Given the description of an element on the screen output the (x, y) to click on. 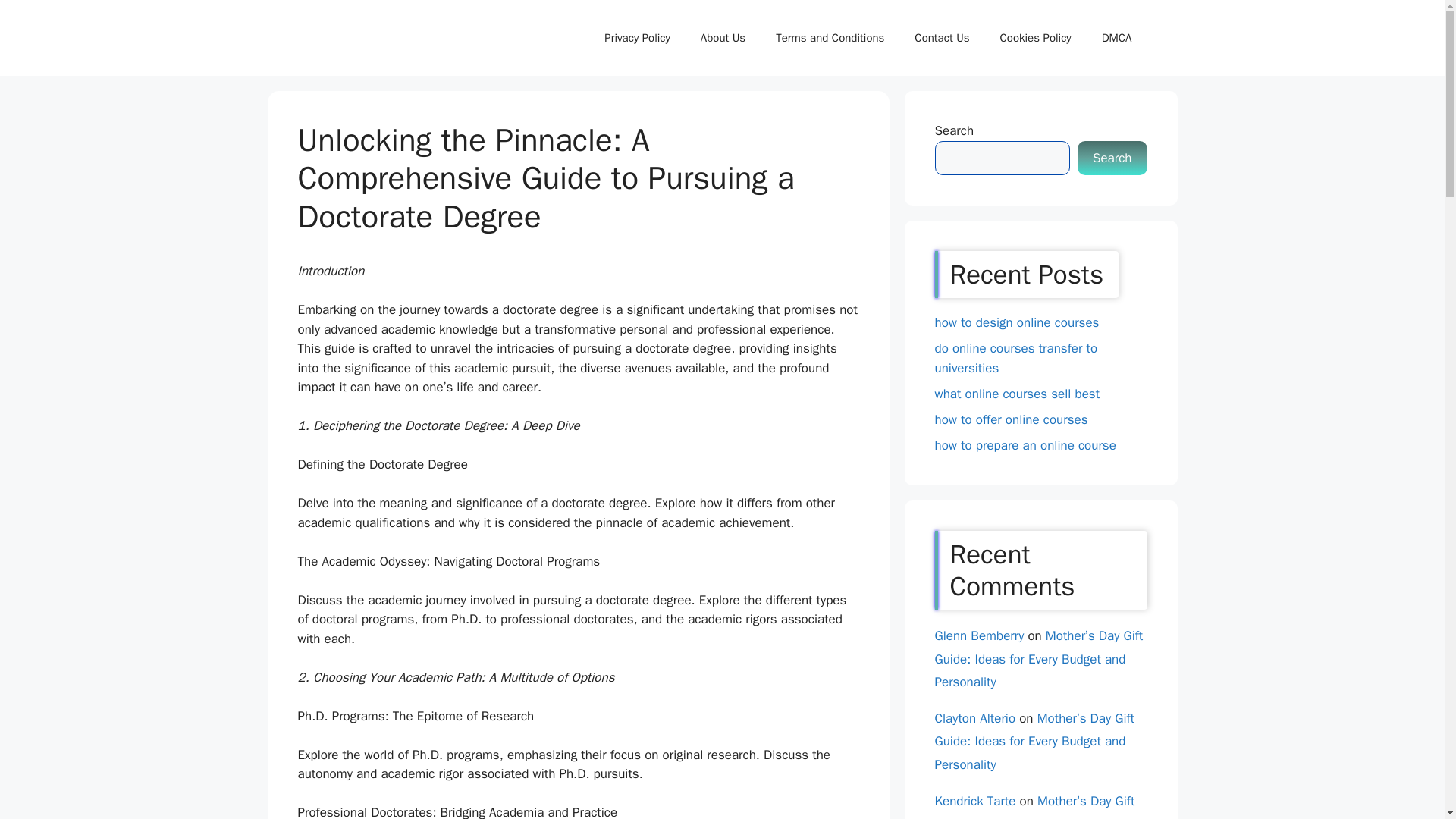
DMCA (1116, 37)
Glenn Bemberry (978, 635)
Kendrick Tarte (974, 801)
how to offer online courses (1010, 418)
Clayton Alterio (974, 718)
Search (1112, 158)
do online courses transfer to universities (1015, 357)
Privacy Policy (637, 37)
how to design online courses (1016, 322)
Terms and Conditions (829, 37)
